Given the description of an element on the screen output the (x, y) to click on. 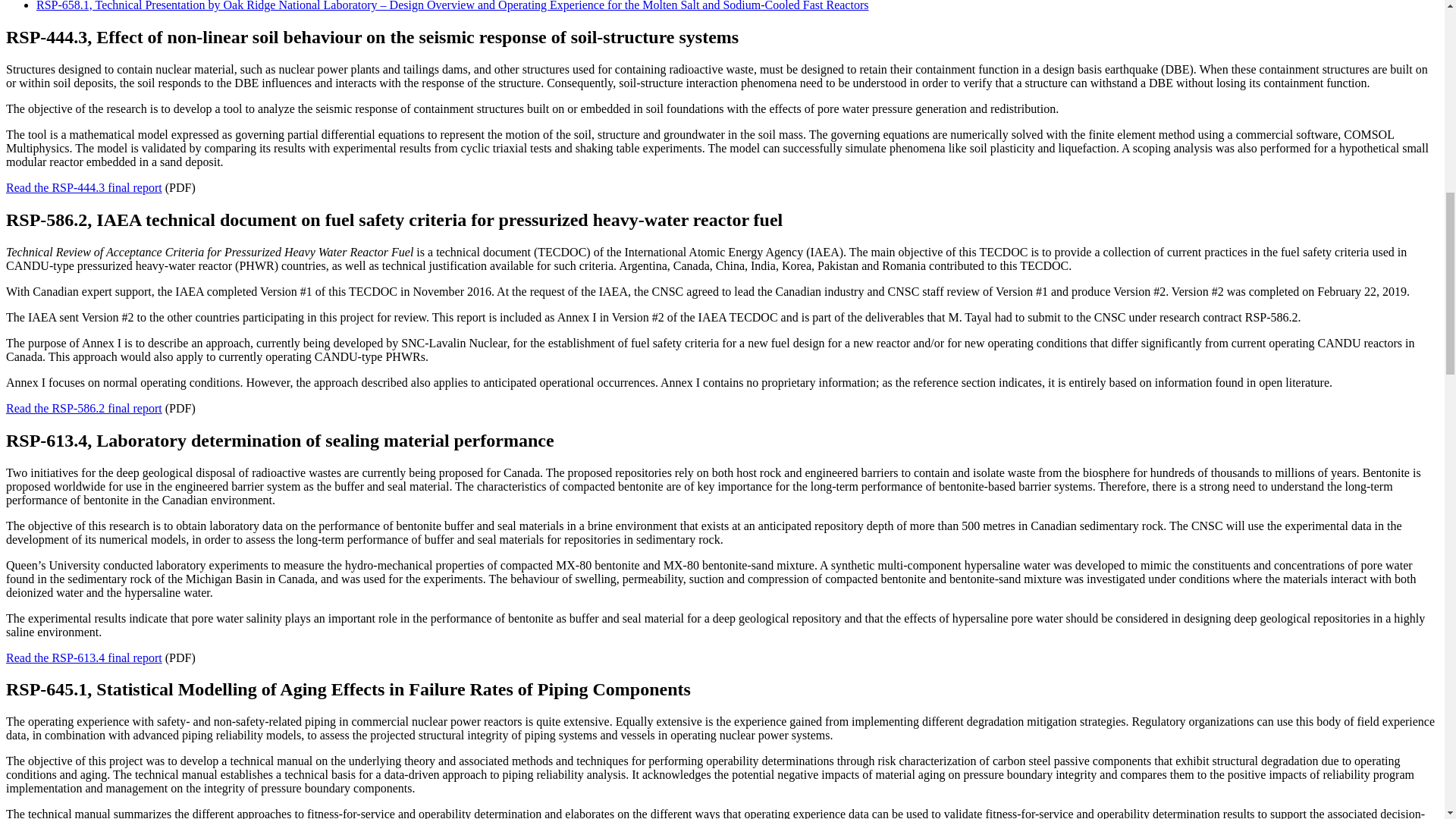
Read the RSP-613.4 final report (83, 657)
Read the RSP-586.2 final report (83, 408)
Read the RSP-444.3 final report (83, 187)
